Given the description of an element on the screen output the (x, y) to click on. 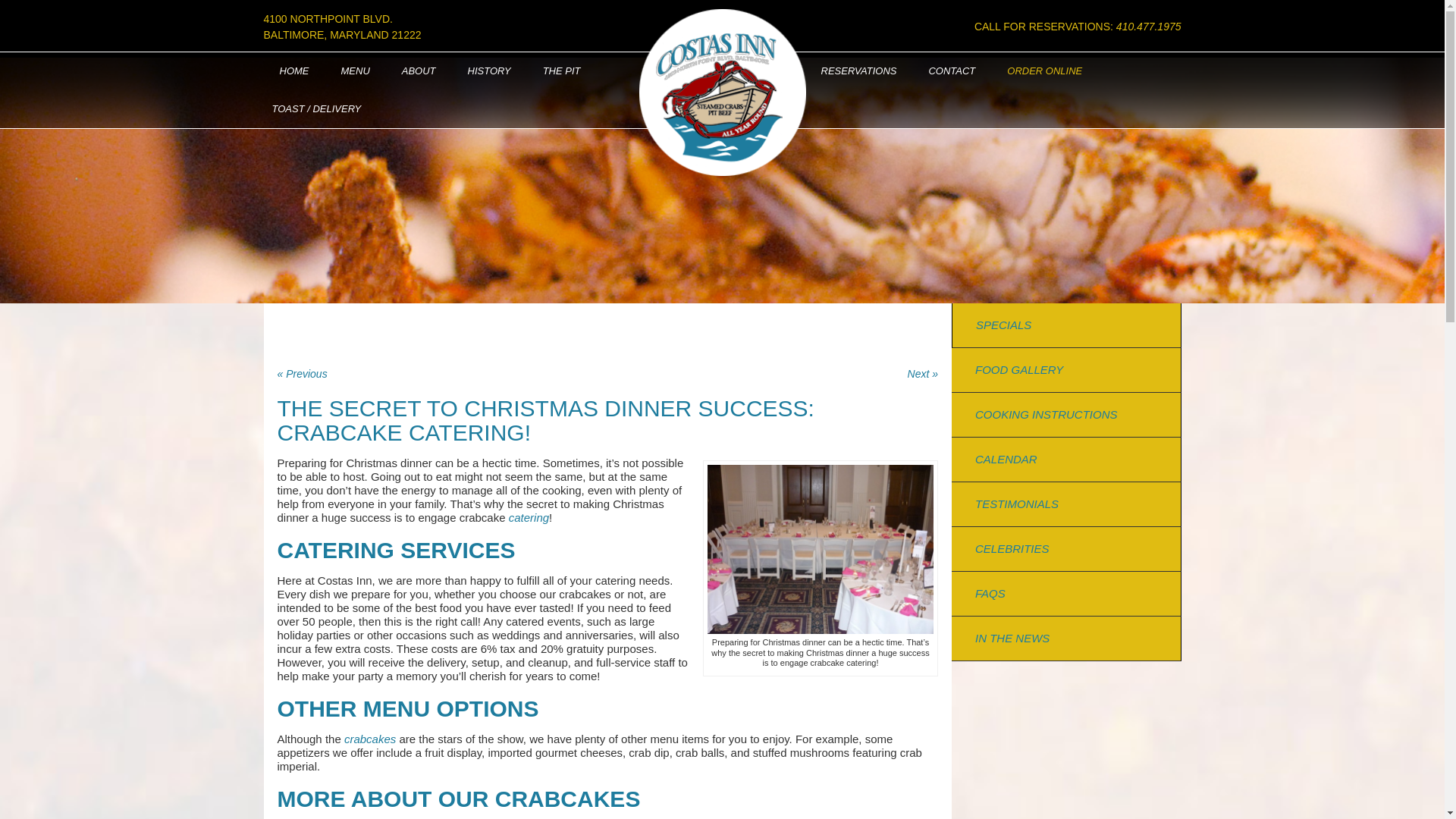
catering (528, 517)
ORDER ONLINE (1044, 71)
FAQS (989, 593)
CONTACT (951, 71)
410.477.1975 (1148, 26)
HISTORY (489, 71)
CELEBRITIES (1011, 548)
crabcakes (369, 738)
RESERVATIONS (858, 71)
ABOUT (418, 71)
IN THE NEWS (1011, 637)
FOOD GALLERY (1018, 369)
THE PIT (561, 71)
TESTIMONIALS (1016, 503)
MENU (354, 71)
